Given the description of an element on the screen output the (x, y) to click on. 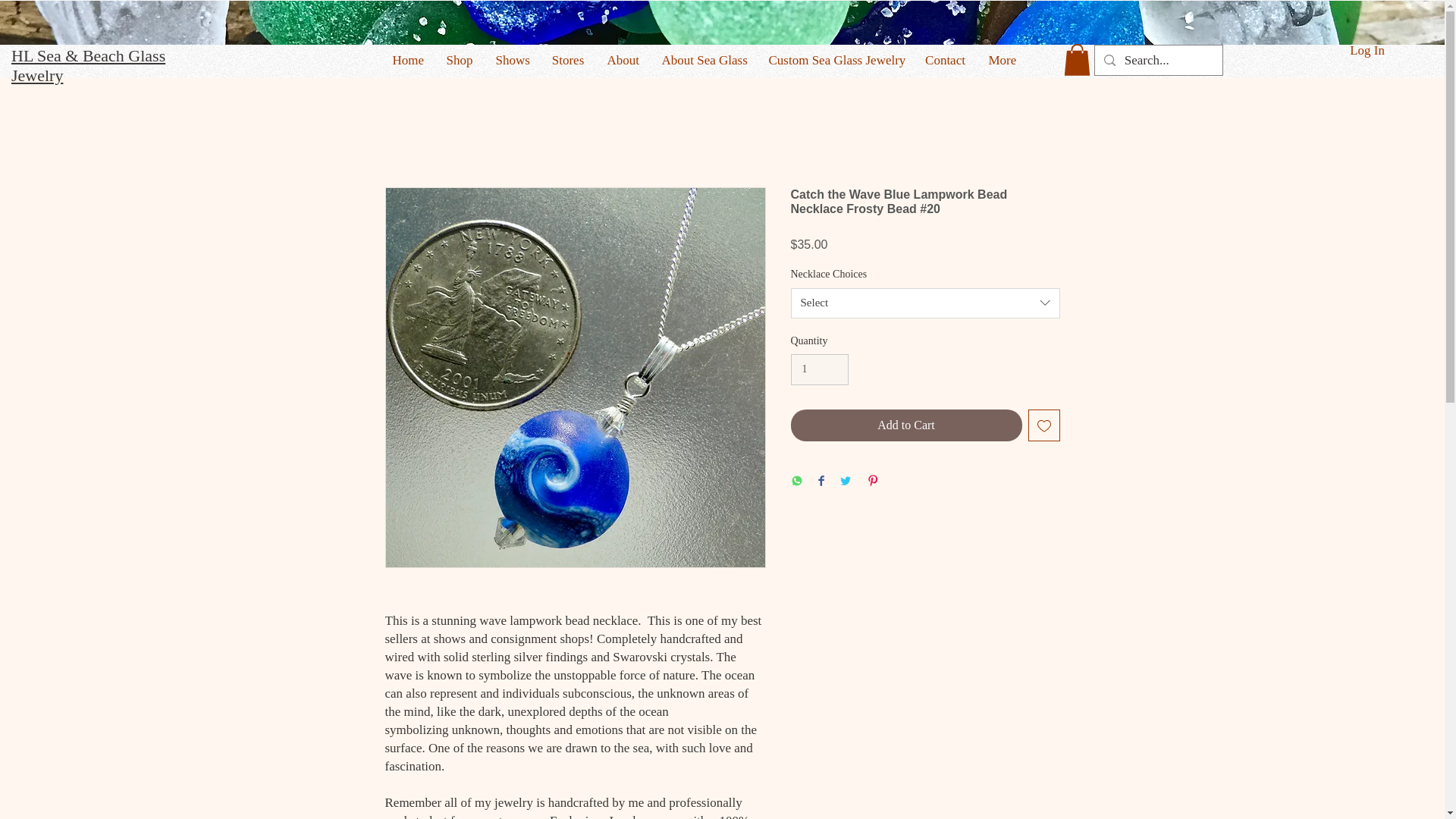
About Sea Glass (703, 60)
Contact (944, 60)
About (622, 60)
1 (818, 368)
Home (406, 60)
Shows (511, 60)
Stores (567, 60)
Log In (1366, 50)
Shop (459, 60)
Custom Sea Glass Jewelry (834, 60)
